Given the description of an element on the screen output the (x, y) to click on. 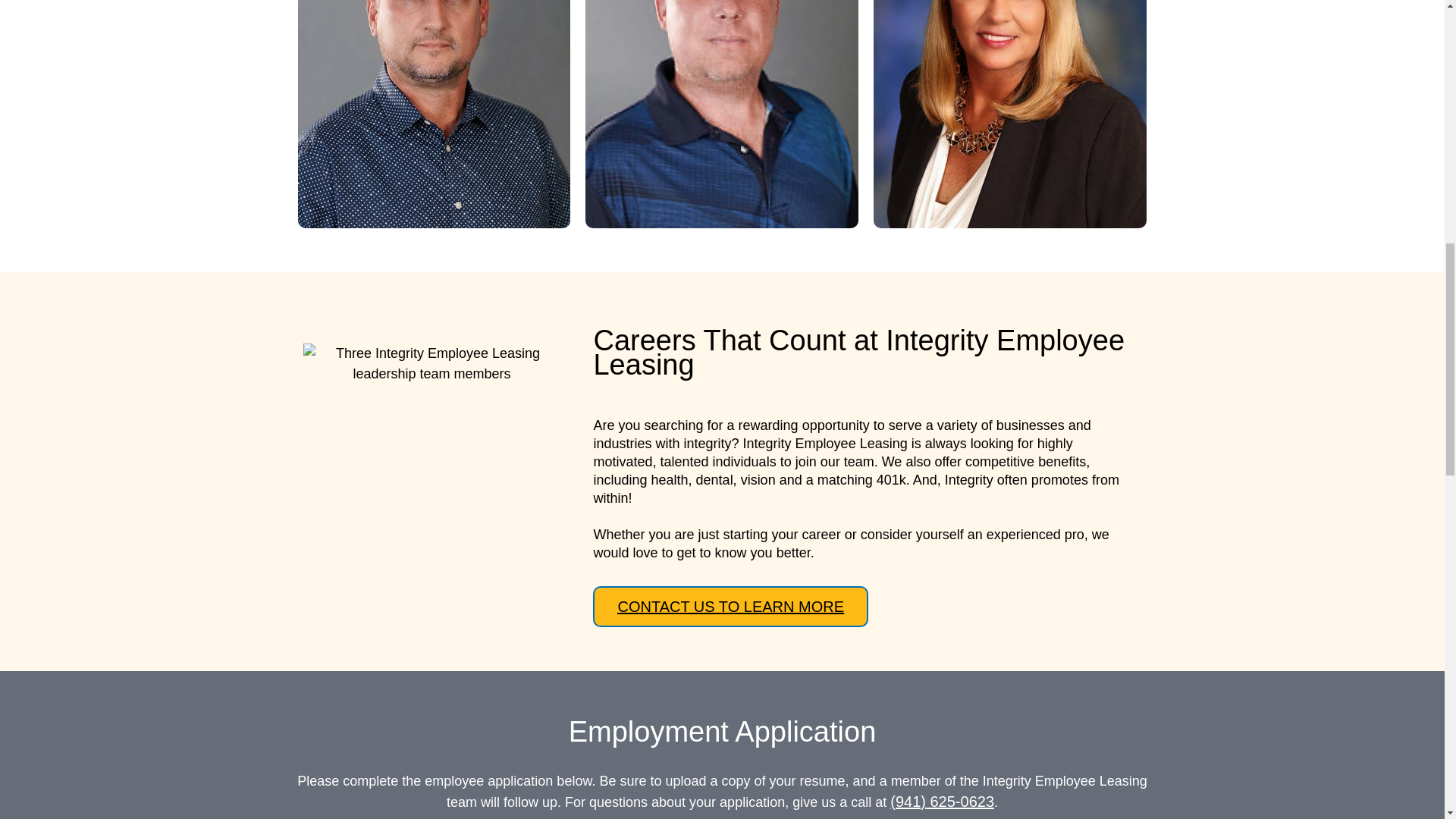
CONTACT US TO LEARN MORE (729, 606)
